Given the description of an element on the screen output the (x, y) to click on. 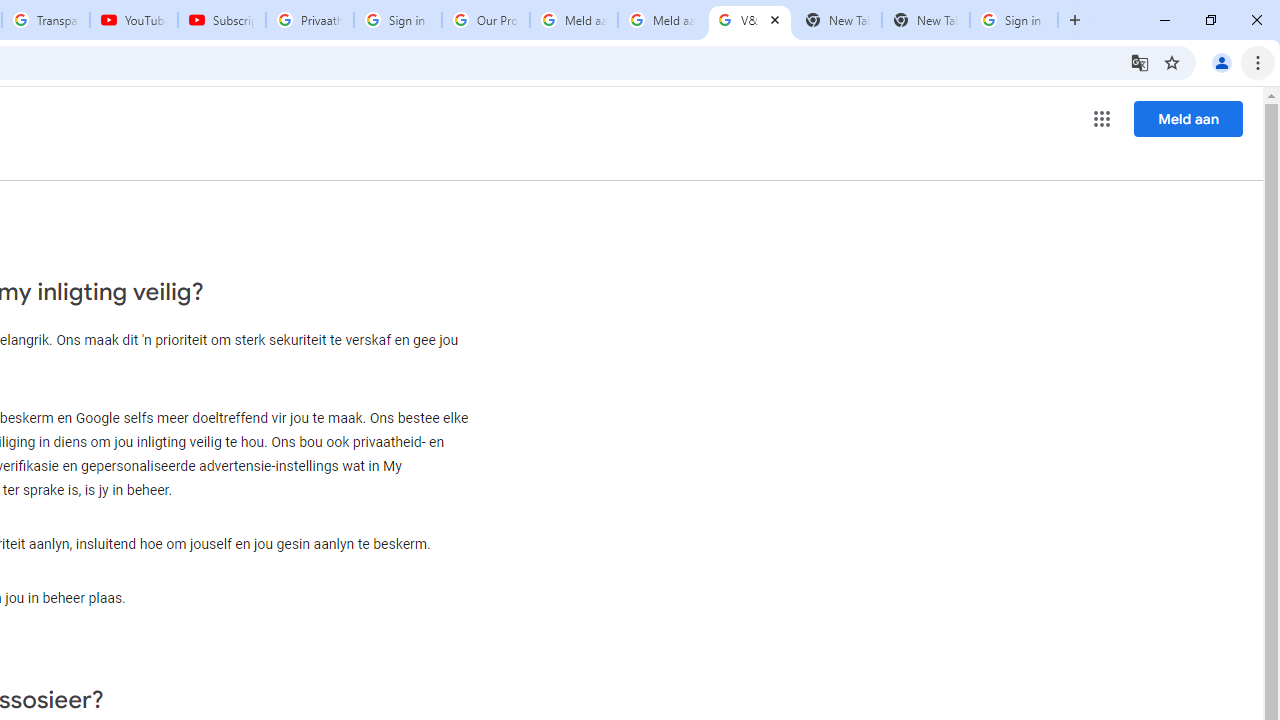
New Tab (925, 20)
Meld aan (1188, 118)
Google-programme (1101, 118)
Subscriptions - YouTube (221, 20)
Translate this page (1139, 62)
YouTube (133, 20)
Sign in - Google Accounts (1014, 20)
